Given the description of an element on the screen output the (x, y) to click on. 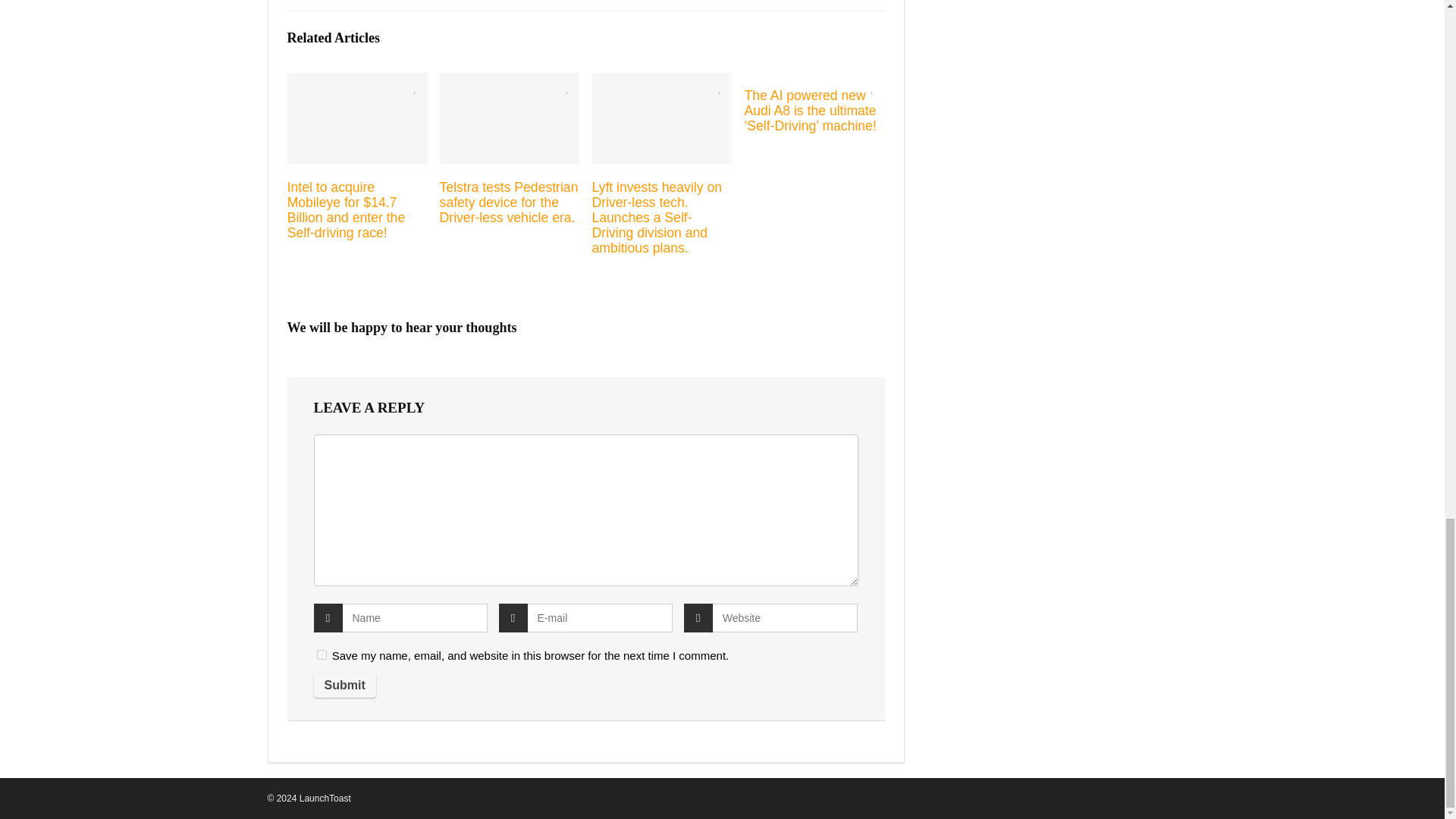
Submit (344, 685)
Submit (344, 685)
yes (321, 655)
